Given the description of an element on the screen output the (x, y) to click on. 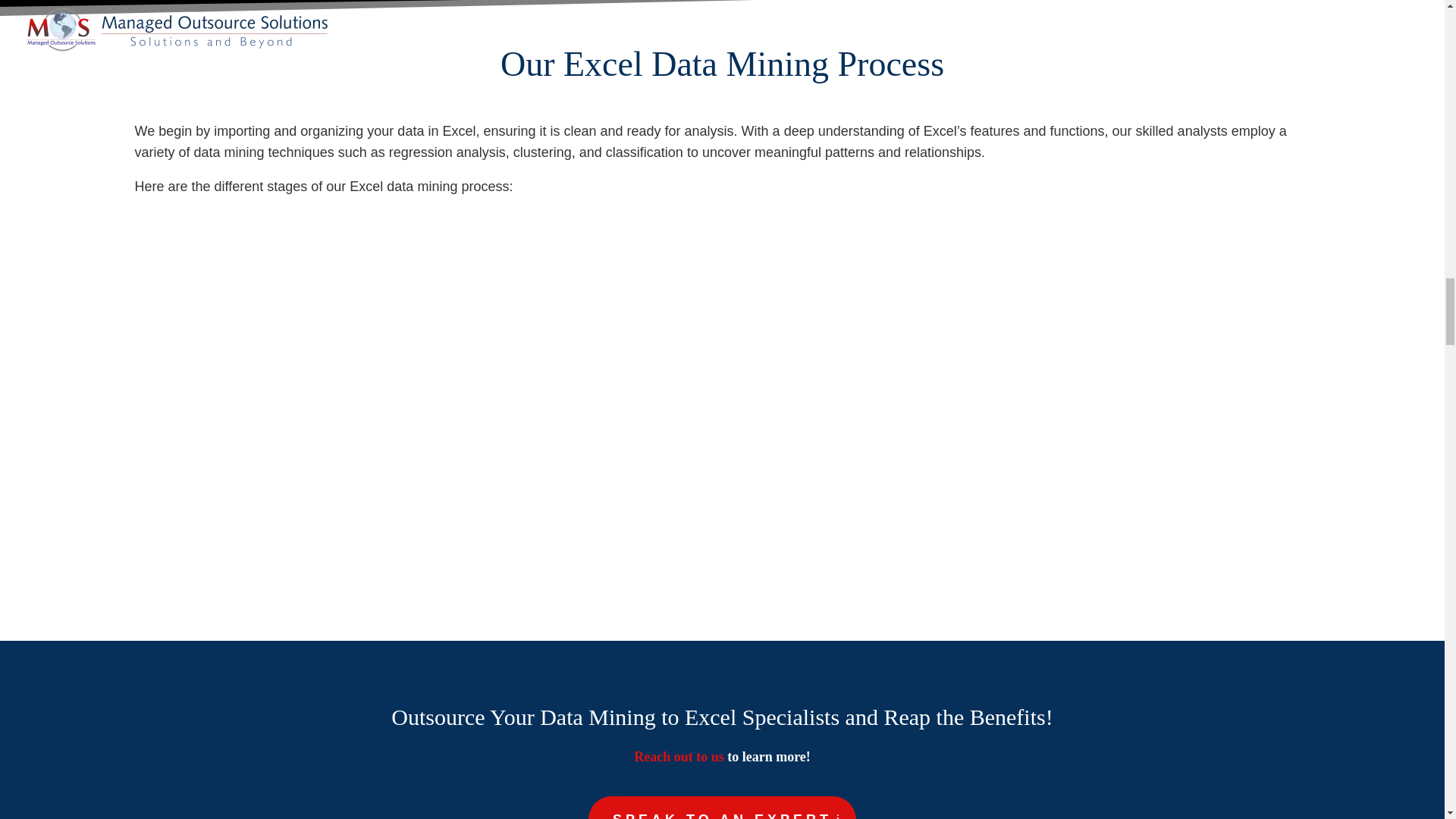
Reach out to us (678, 756)
SPEAK TO AN EXPERT (722, 807)
Reach out to us (678, 756)
